Given the description of an element on the screen output the (x, y) to click on. 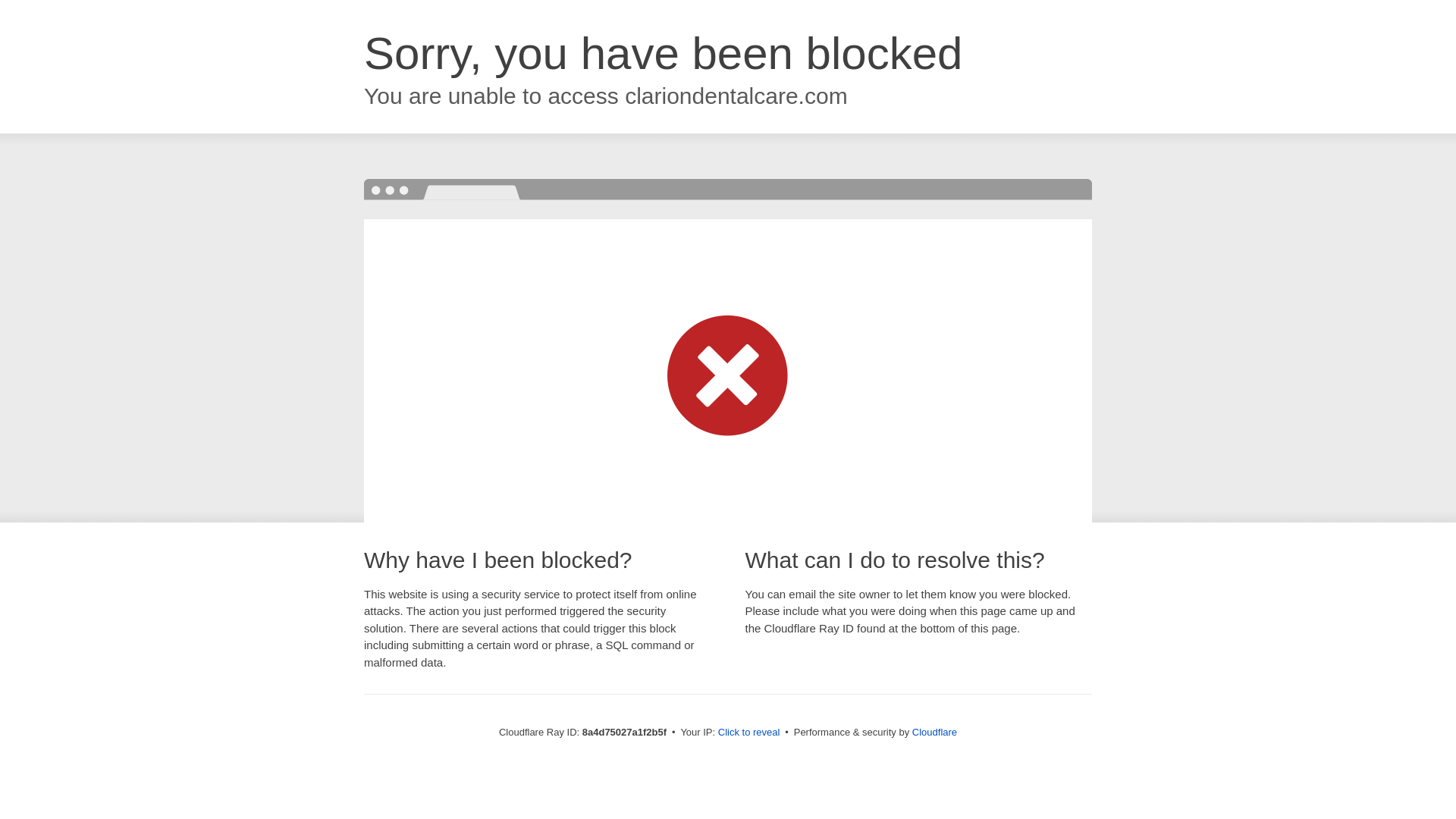
Click to reveal (748, 732)
Cloudflare (934, 731)
